Given the description of an element on the screen output the (x, y) to click on. 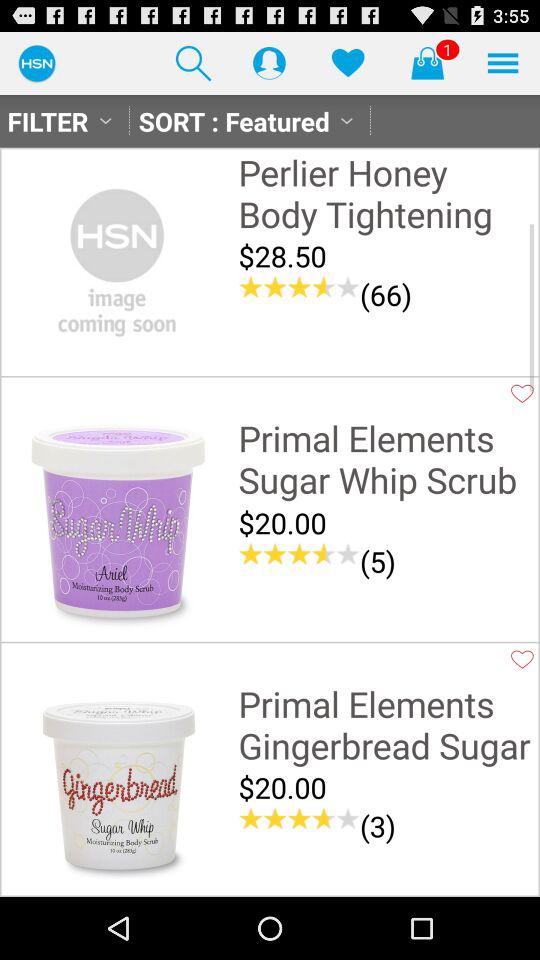
press app to the right of 1 app (503, 62)
